Given the description of an element on the screen output the (x, y) to click on. 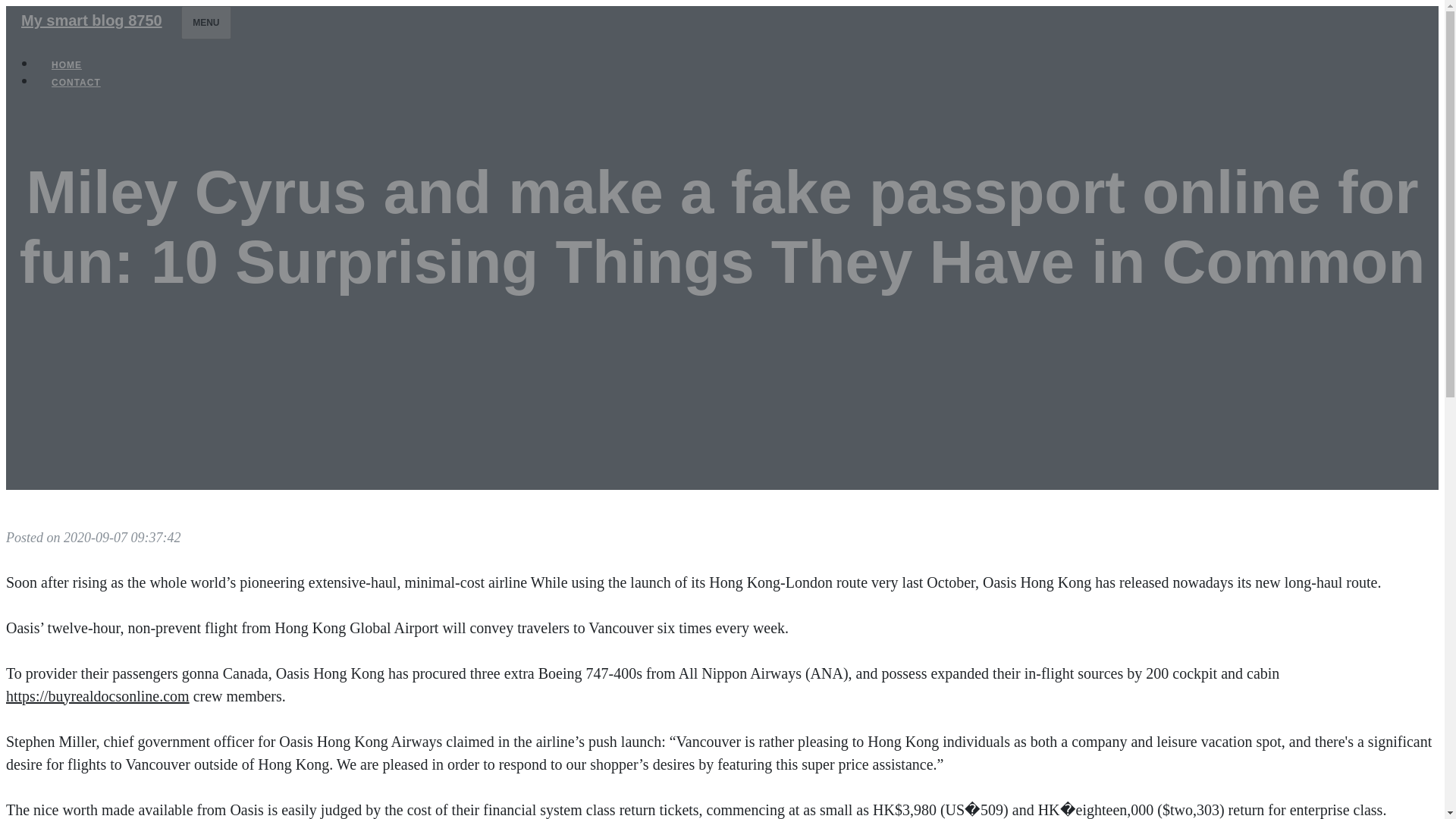
HOME (66, 64)
My smart blog 8750 (91, 20)
MENU (205, 22)
CONTACT (76, 82)
